Given the description of an element on the screen output the (x, y) to click on. 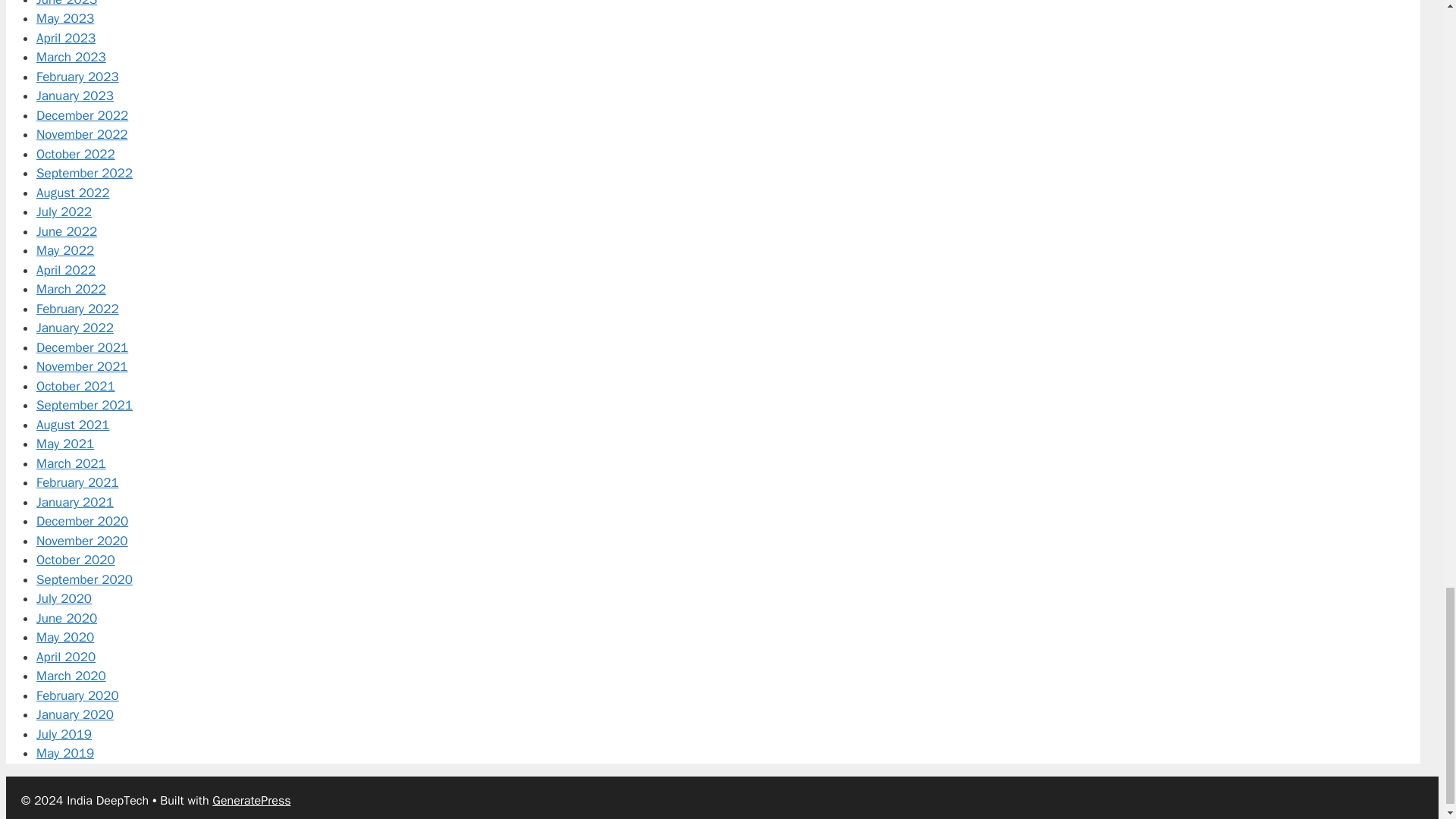
March 2023 (71, 57)
May 2023 (65, 18)
February 2023 (77, 76)
June 2023 (66, 3)
August 2022 (72, 192)
October 2022 (75, 154)
November 2022 (82, 134)
January 2023 (74, 95)
September 2022 (84, 172)
December 2022 (82, 115)
